Given the description of an element on the screen output the (x, y) to click on. 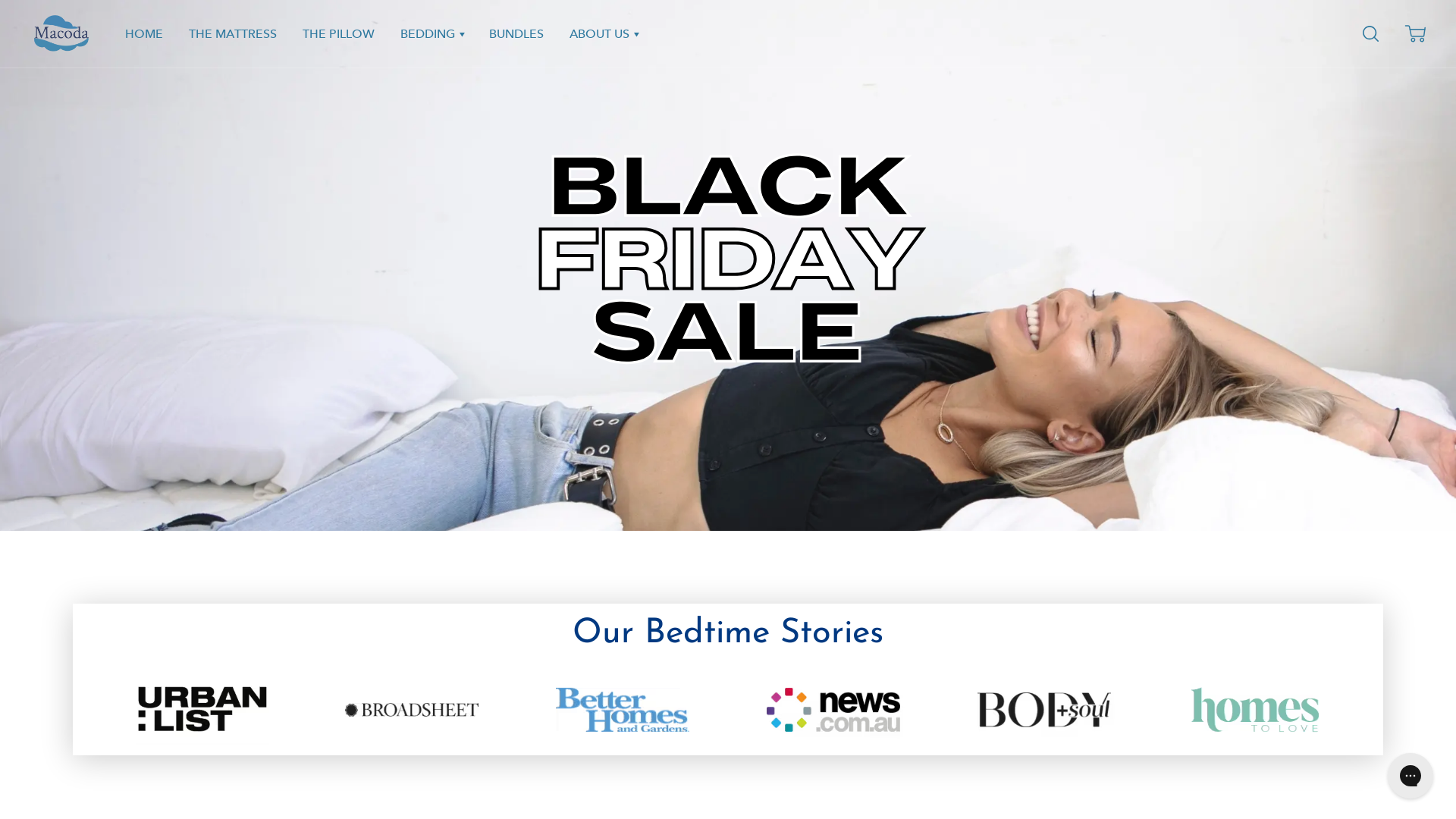
HOME Element type: text (144, 33)
BUNDLES Element type: text (516, 33)
Gorgias live chat messenger Element type: hover (1410, 775)
ABOUT US Element type: text (603, 33)
BEDDING Element type: text (431, 33)
Search Element type: text (1372, 34)
THE PILLOW Element type: text (338, 33)
THE MATTRESS Element type: text (232, 33)
Cart Element type: text (1414, 34)
